Given the description of an element on the screen output the (x, y) to click on. 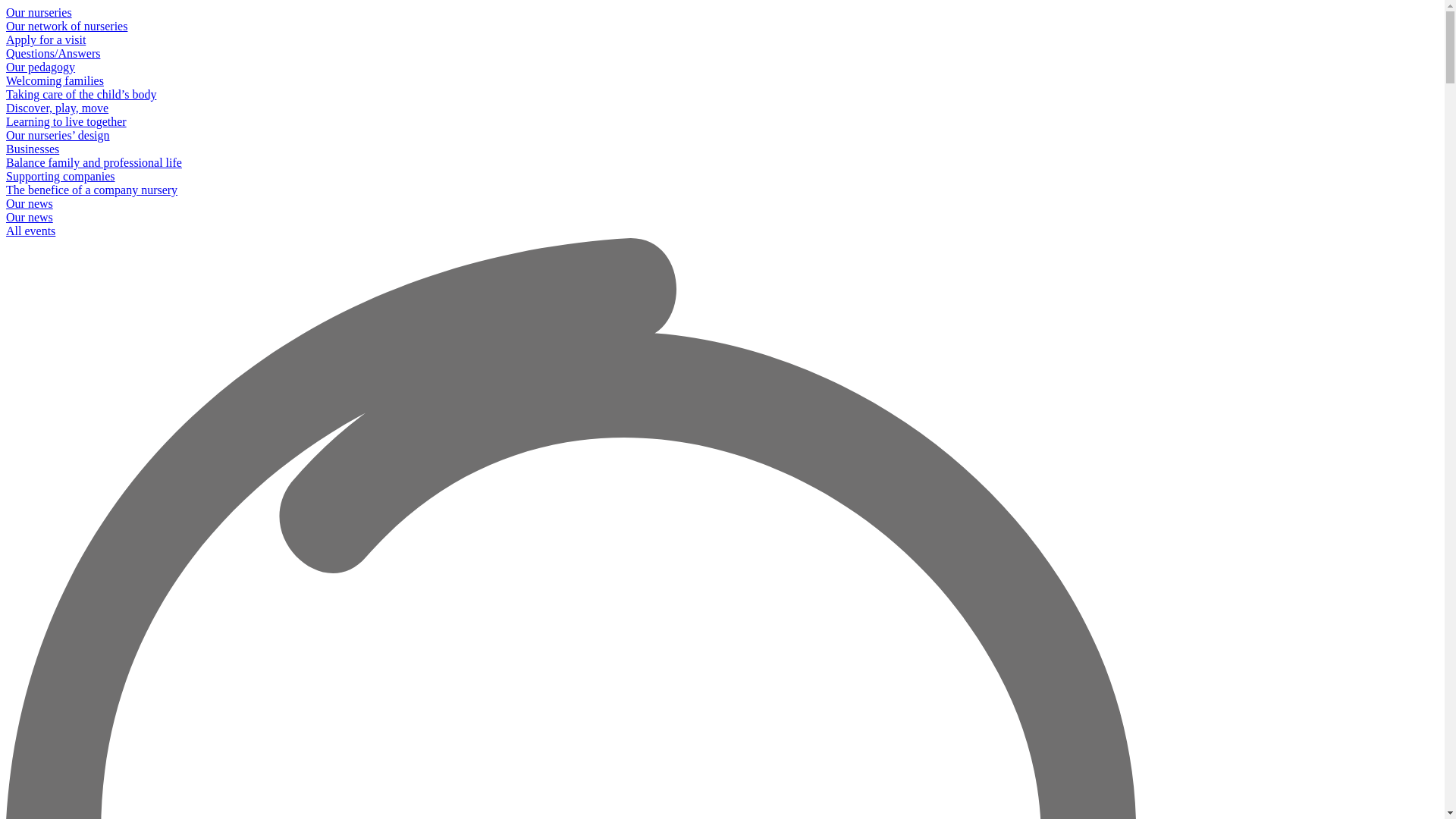
Discover, play, move Element type: text (722, 108)
Businesses Element type: text (722, 149)
Questions/Answers Element type: text (722, 53)
The benefice of a company nursery Element type: text (722, 190)
Supporting companies Element type: text (722, 176)
Our news Element type: text (722, 203)
Our pedagogy Element type: text (722, 67)
All events Element type: text (722, 231)
Balance family and professional life Element type: text (722, 162)
Our news Element type: text (722, 217)
Apply for a visit Element type: text (722, 40)
Learning to live together Element type: text (722, 121)
Our network of nurseries Element type: text (722, 26)
Welcoming families Element type: text (722, 80)
Our nurseries Element type: text (722, 12)
